Given the description of an element on the screen output the (x, y) to click on. 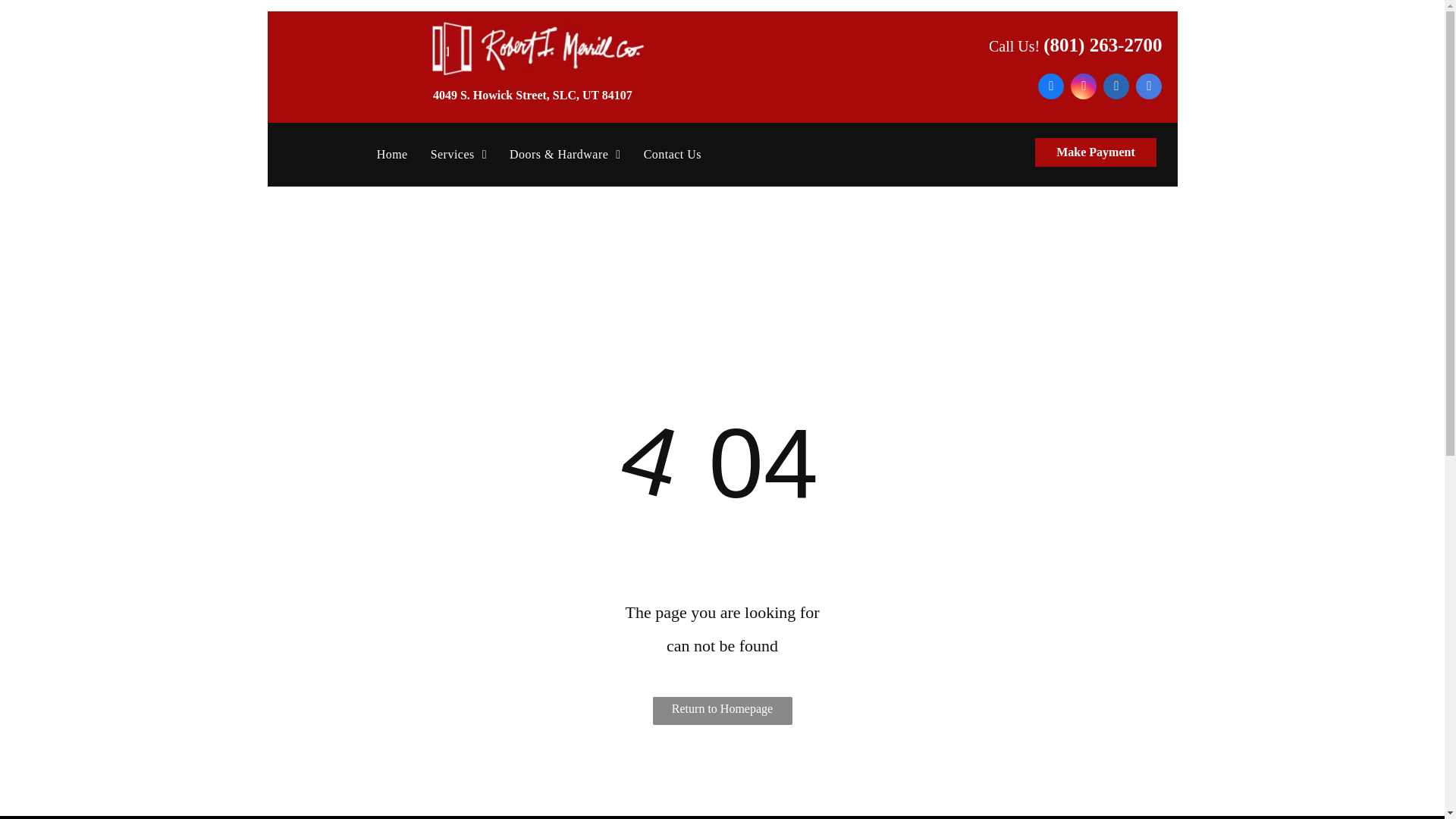
4049 S. Howick Street, SLC, UT 84107 (531, 94)
Home (392, 154)
Services (458, 154)
